Given the description of an element on the screen output the (x, y) to click on. 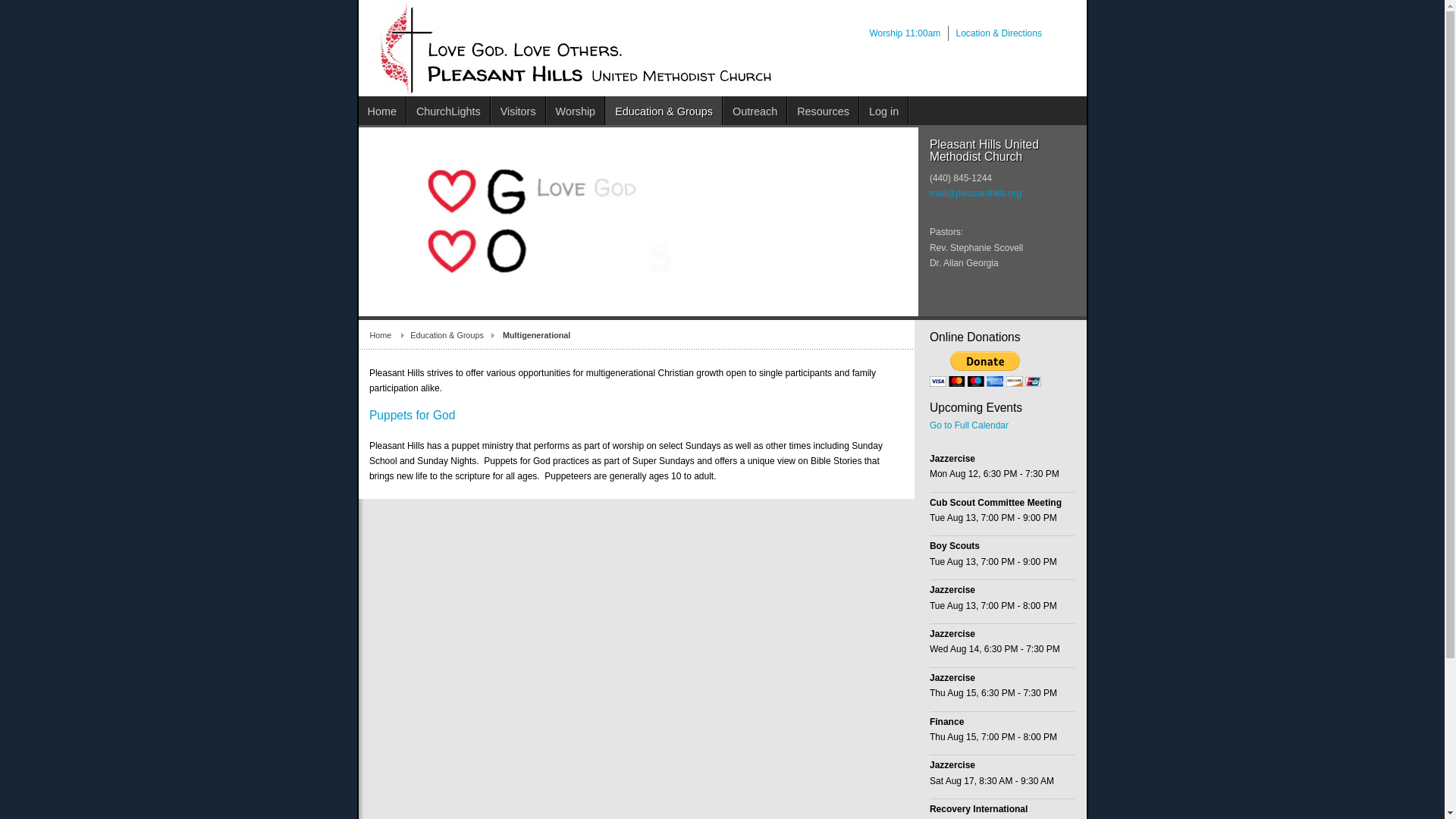
Worship 11:00am (904, 32)
Start here... (382, 110)
ChurchLights (448, 110)
PayPal - The safer, easier way to pay online! (985, 368)
Visitors (519, 110)
Home (389, 335)
Home (382, 110)
Log in (884, 110)
Puppets for God (412, 414)
Outreach (755, 110)
